Given the description of an element on the screen output the (x, y) to click on. 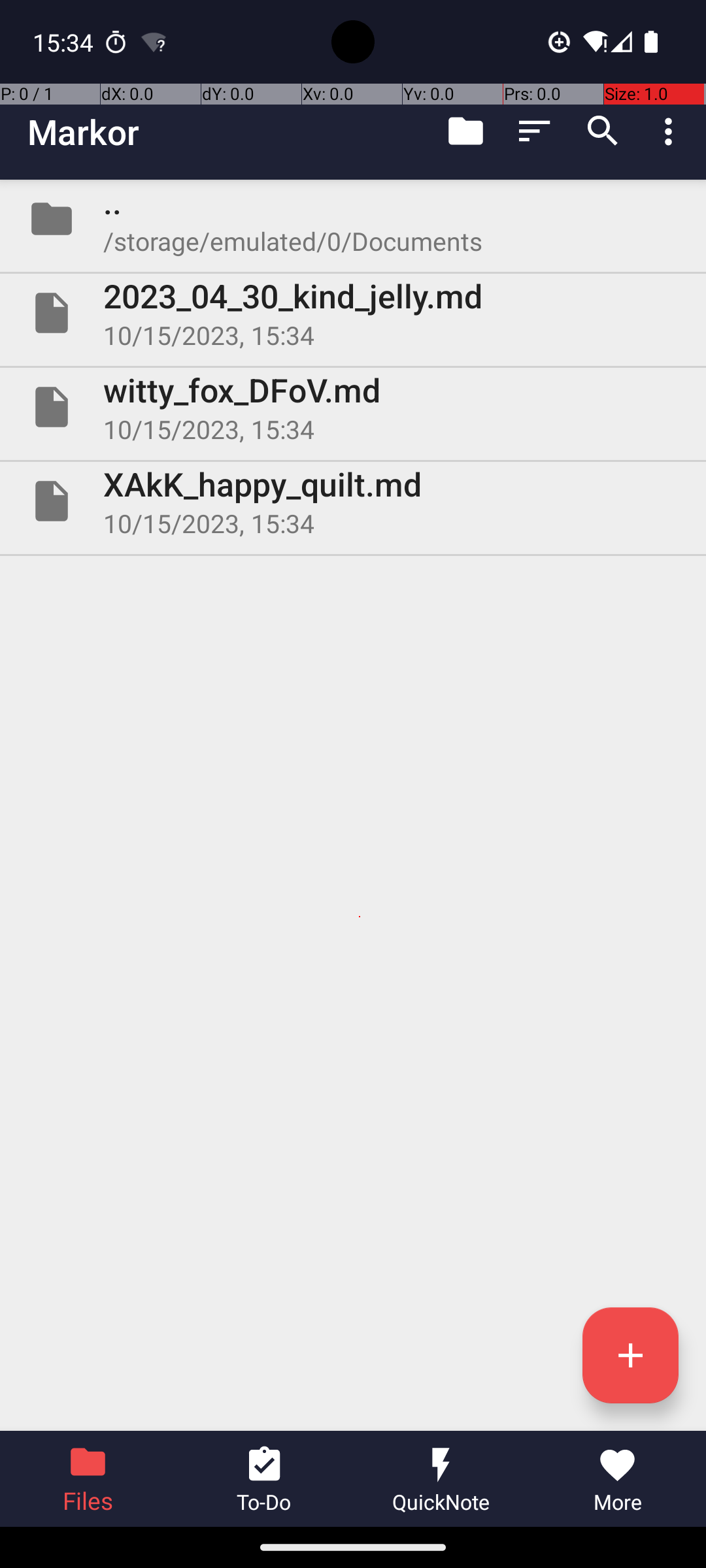
File 2023_04_30_kind_jelly.md  Element type: android.widget.LinearLayout (353, 312)
File witty_fox_DFoV.md  Element type: android.widget.LinearLayout (353, 406)
File XAkK_happy_quilt.md  Element type: android.widget.LinearLayout (353, 500)
